Given the description of an element on the screen output the (x, y) to click on. 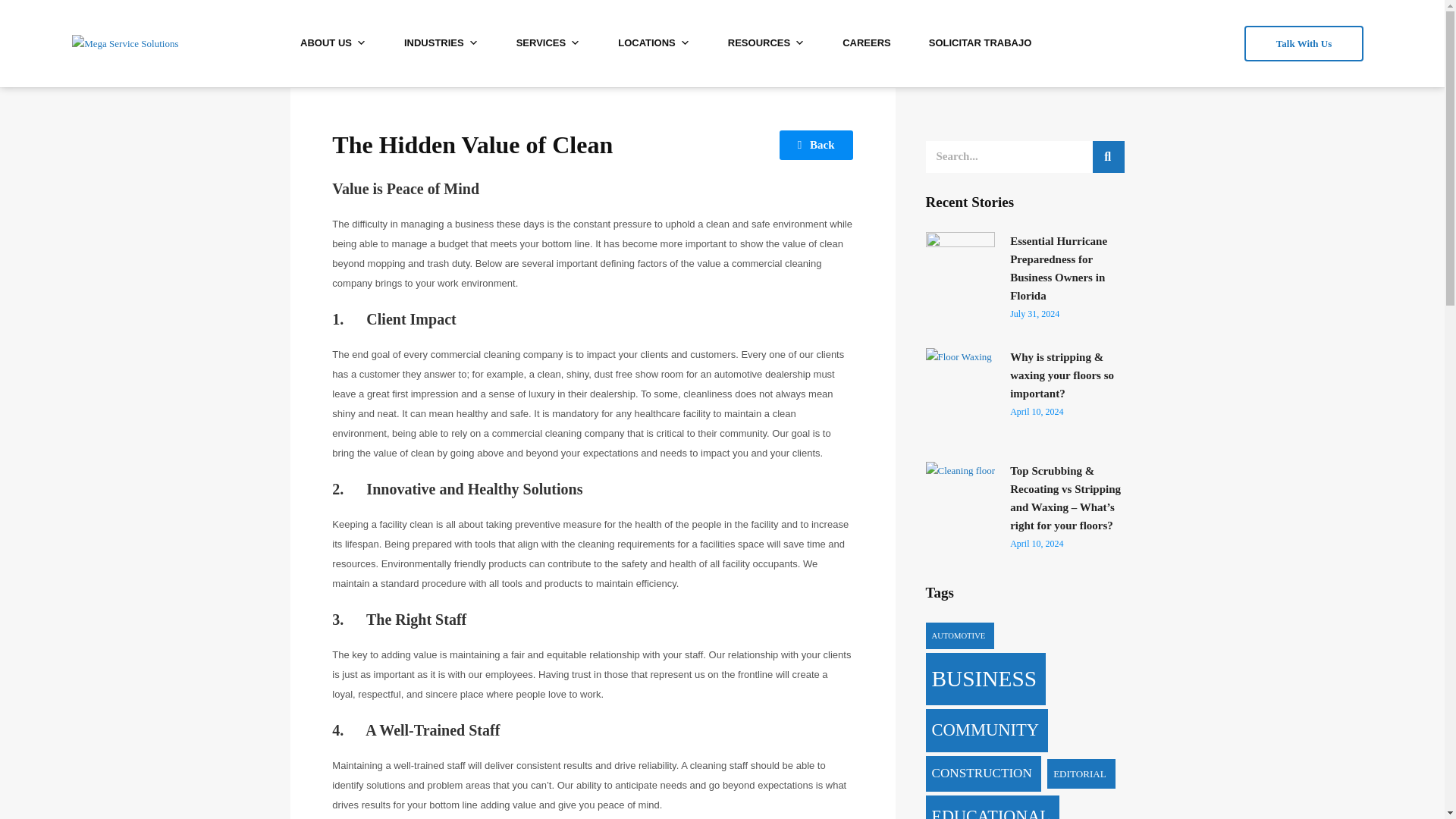
ABOUT US (333, 42)
SERVICES (548, 42)
INDUSTRIES (441, 42)
